Given the description of an element on the screen output the (x, y) to click on. 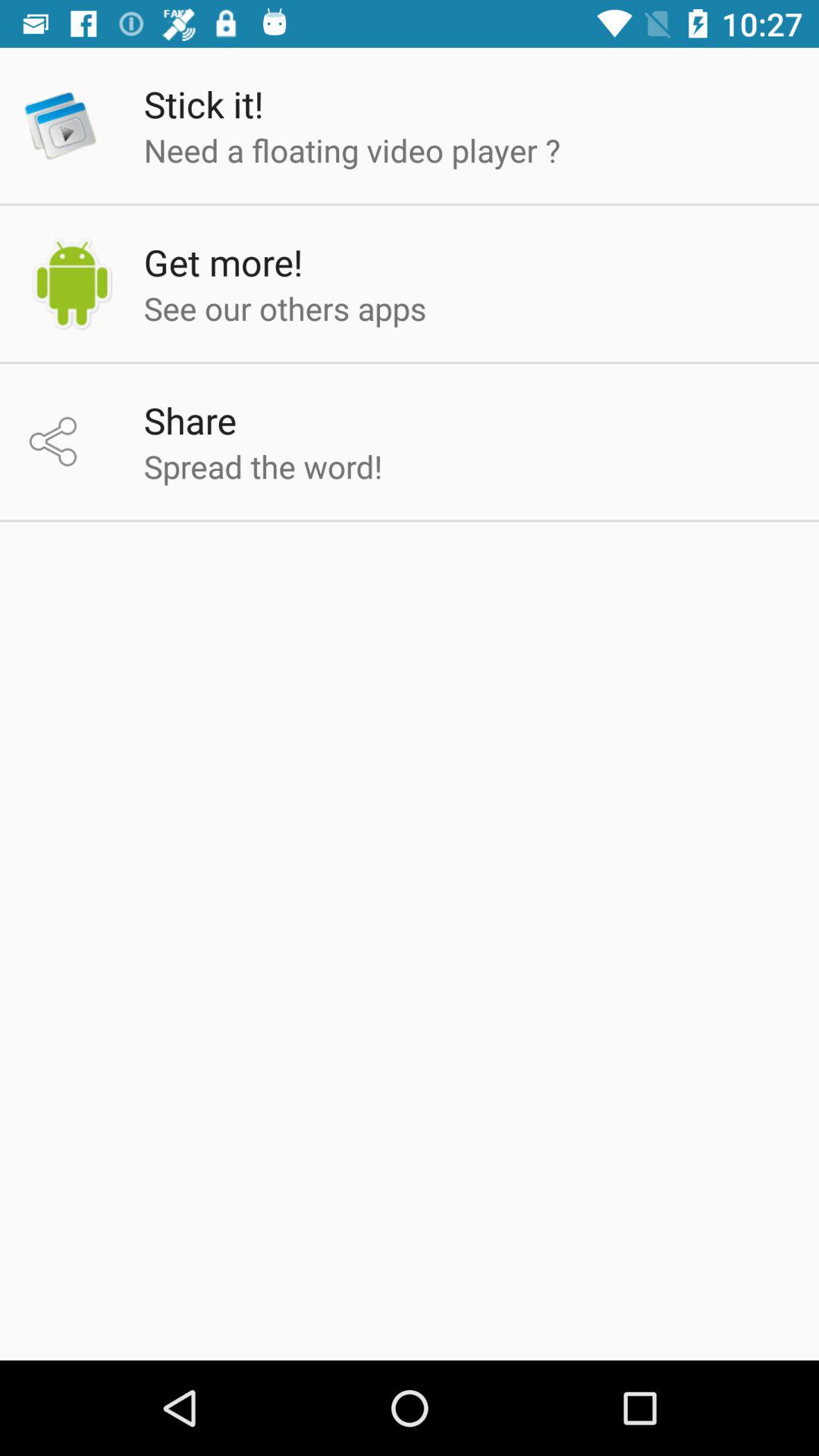
jump to the share app (189, 419)
